Given the description of an element on the screen output the (x, y) to click on. 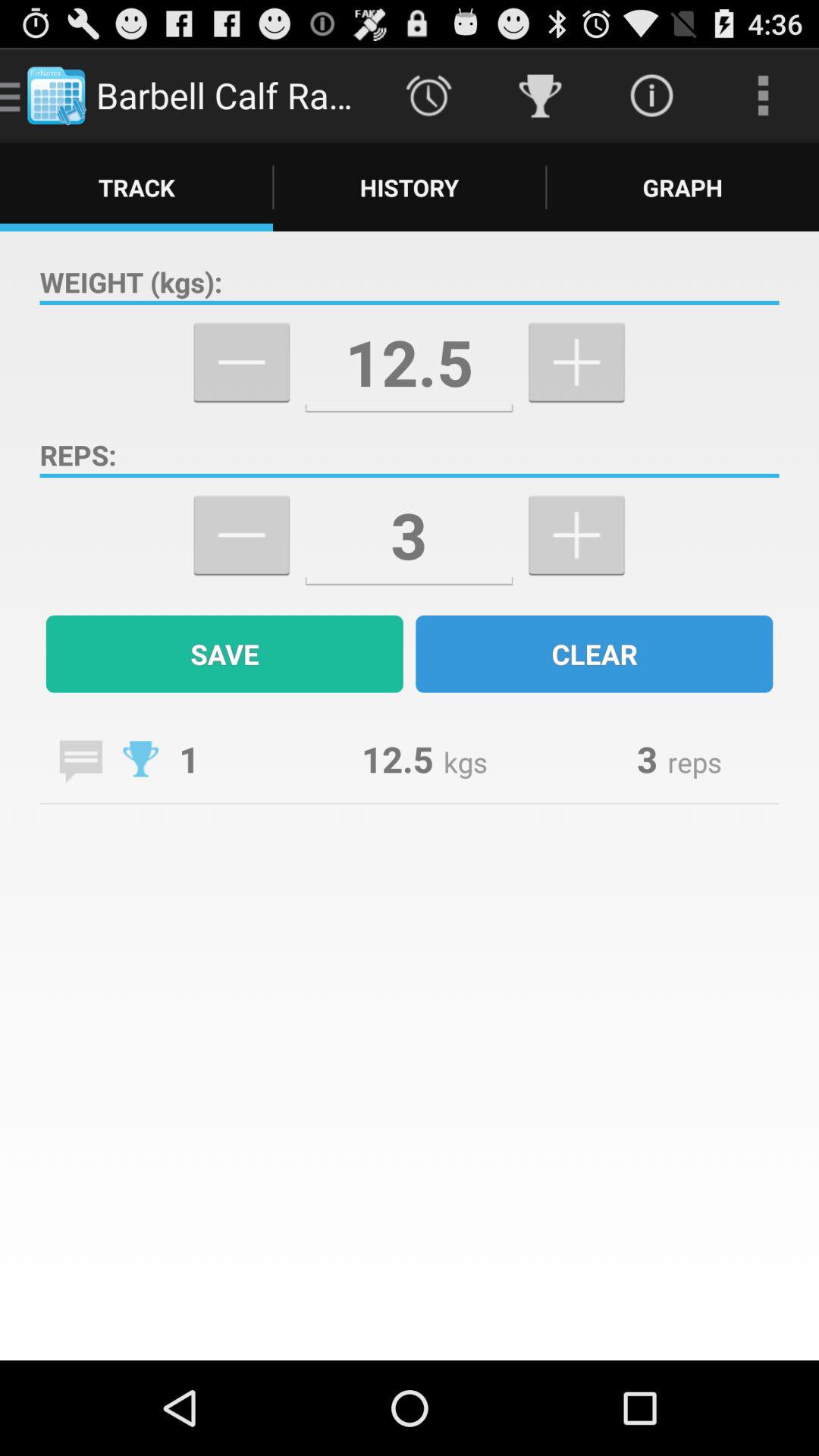
add a note (80, 761)
